Given the description of an element on the screen output the (x, y) to click on. 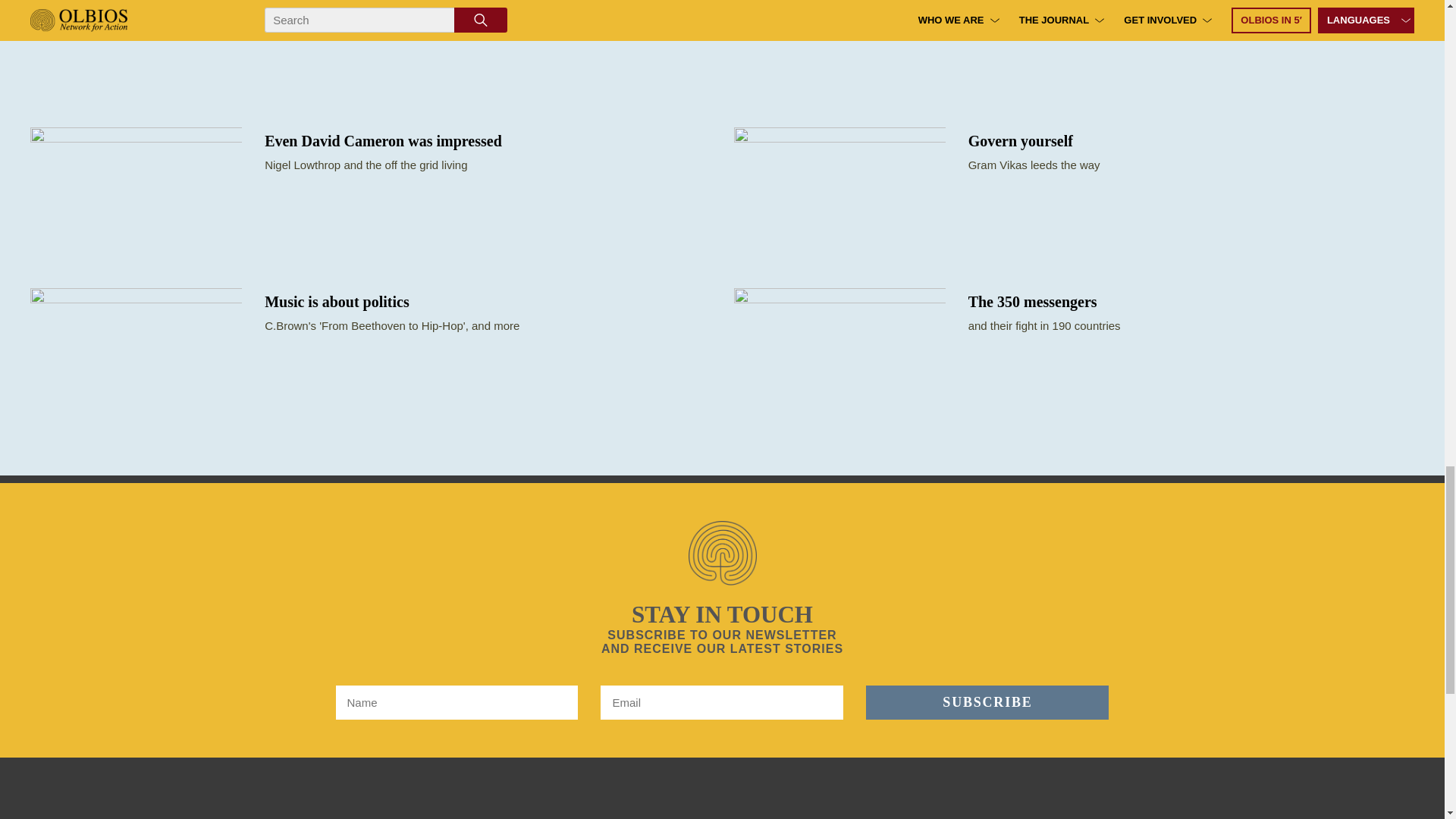
Subscribe (987, 702)
